Given the description of an element on the screen output the (x, y) to click on. 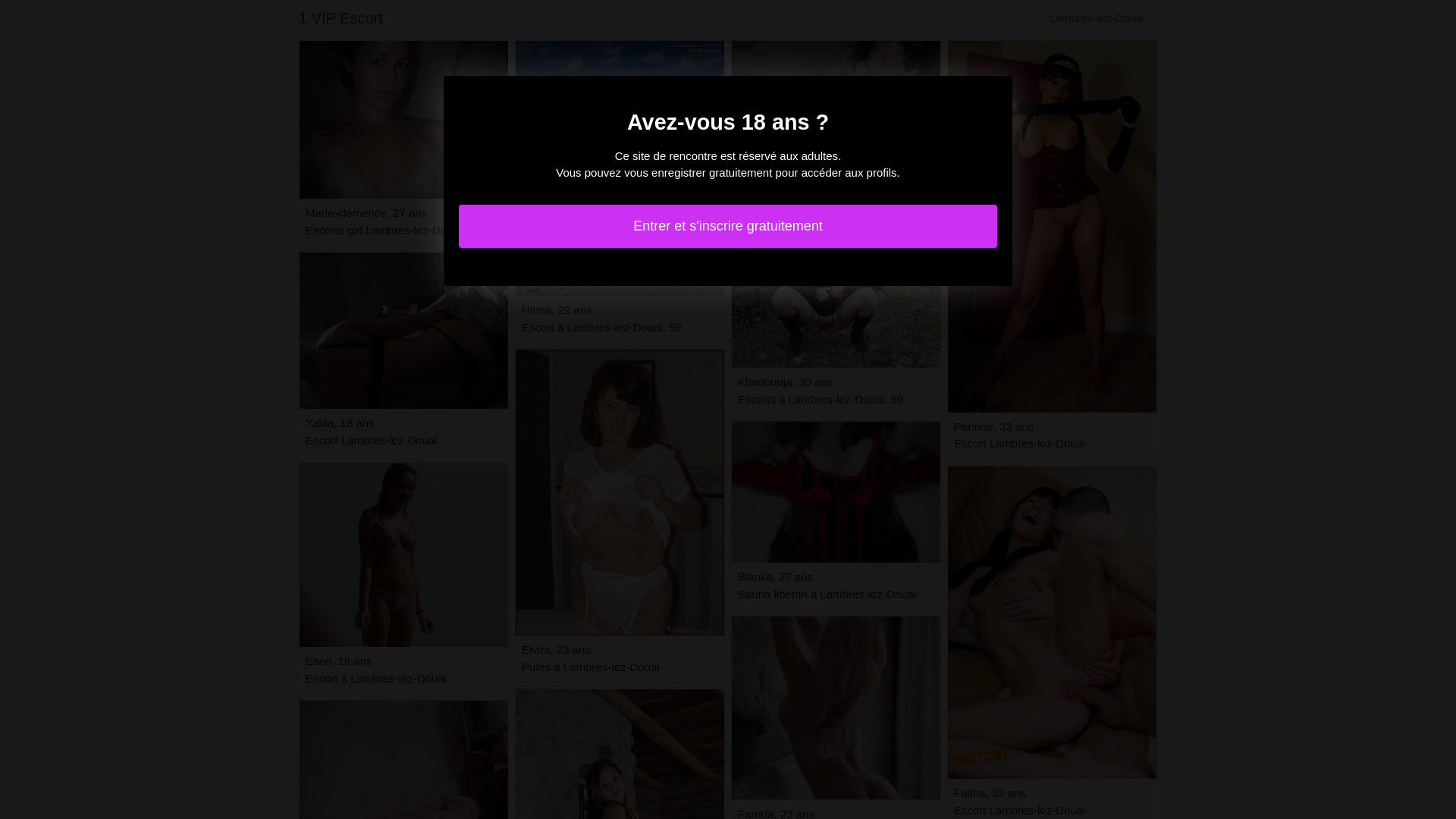
1 VIP Escort Element type: text (340, 18)
Entrer et s'inscrire gratuitement Element type: text (727, 225)
